Given the description of an element on the screen output the (x, y) to click on. 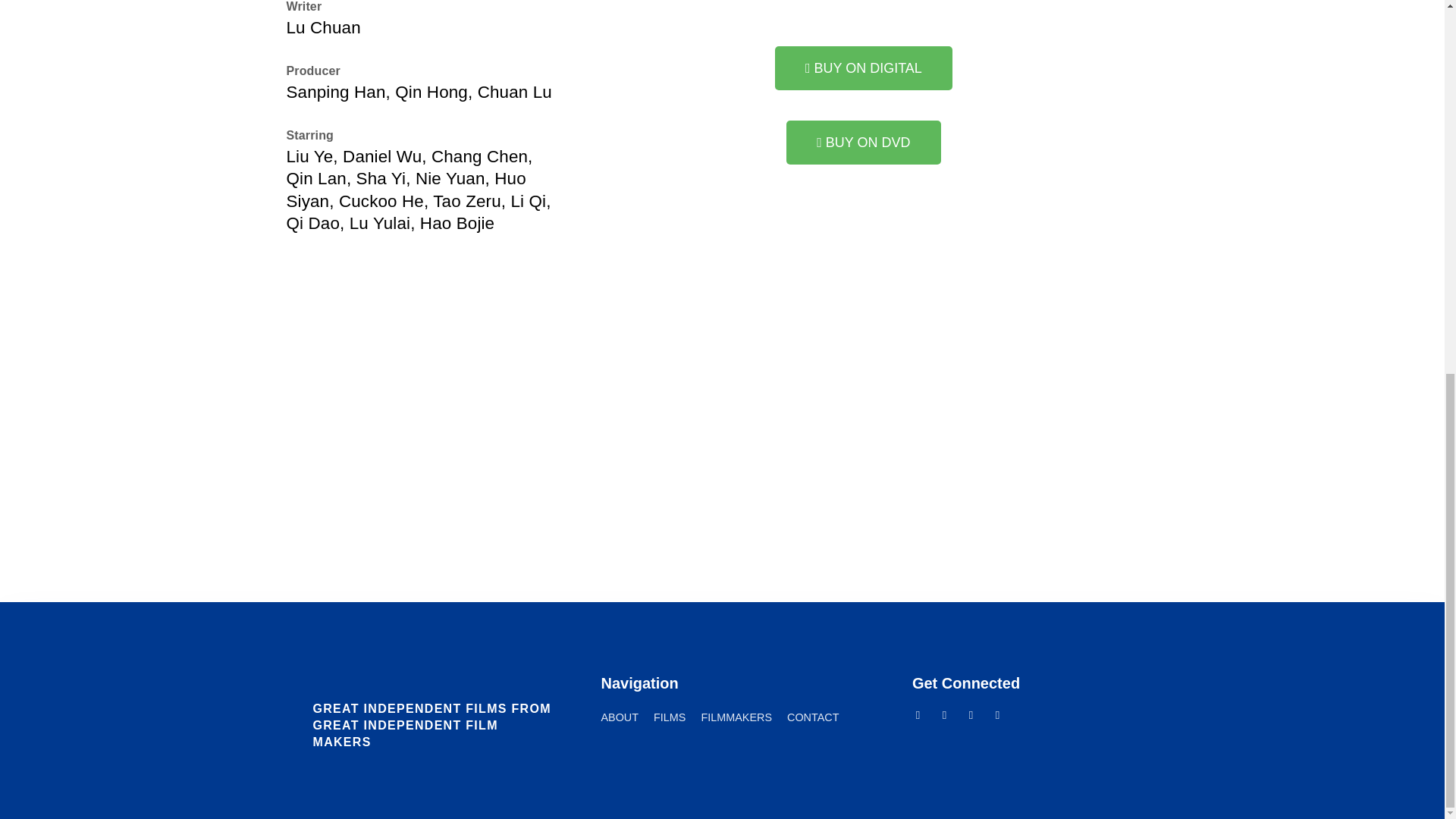
Writer (303, 6)
Starring (309, 133)
BUY ON DIGITAL (863, 67)
Producer (313, 70)
